Given the description of an element on the screen output the (x, y) to click on. 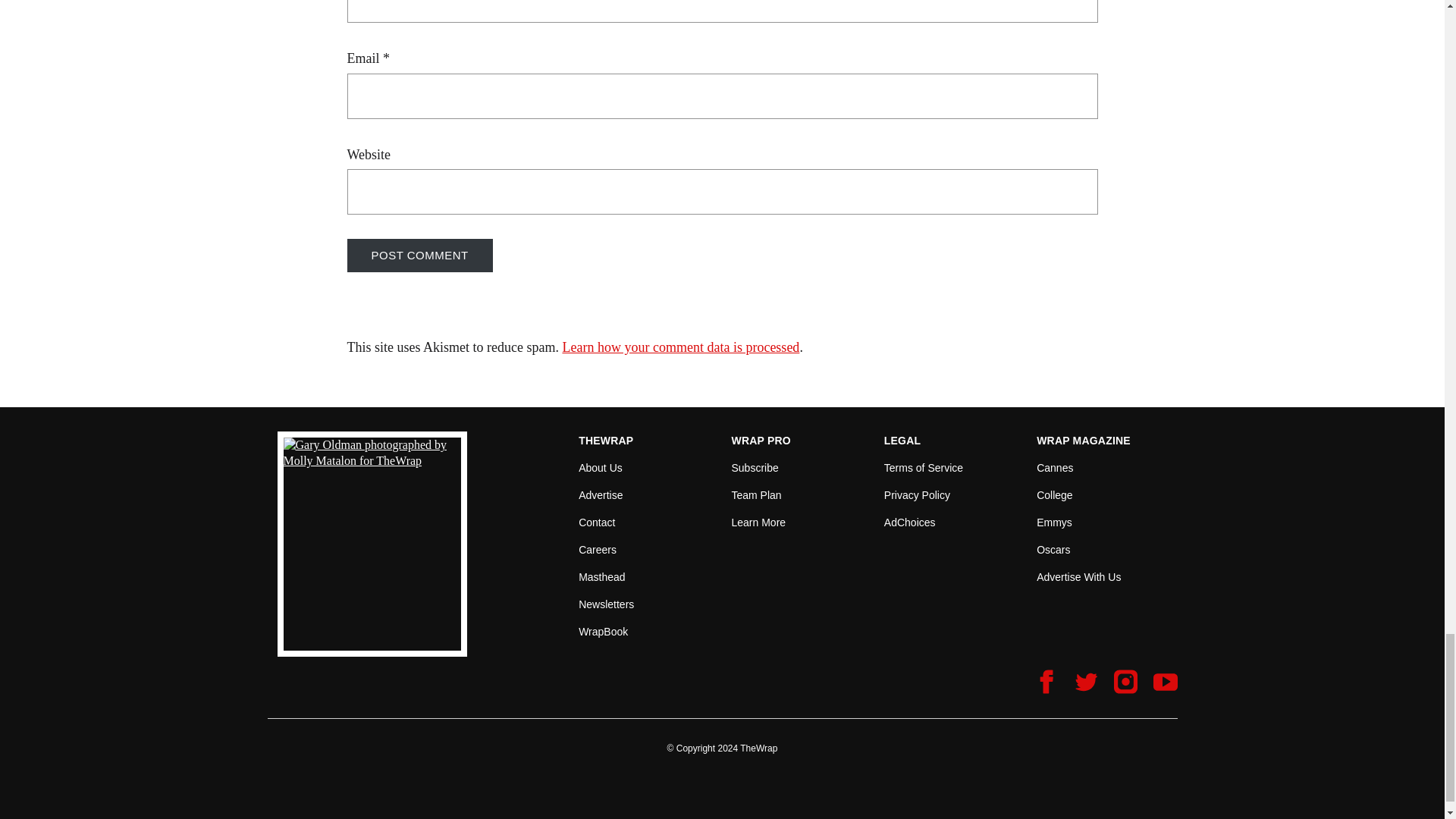
Learn more about becoming a member (758, 522)
Post Comment (420, 255)
